Given the description of an element on the screen output the (x, y) to click on. 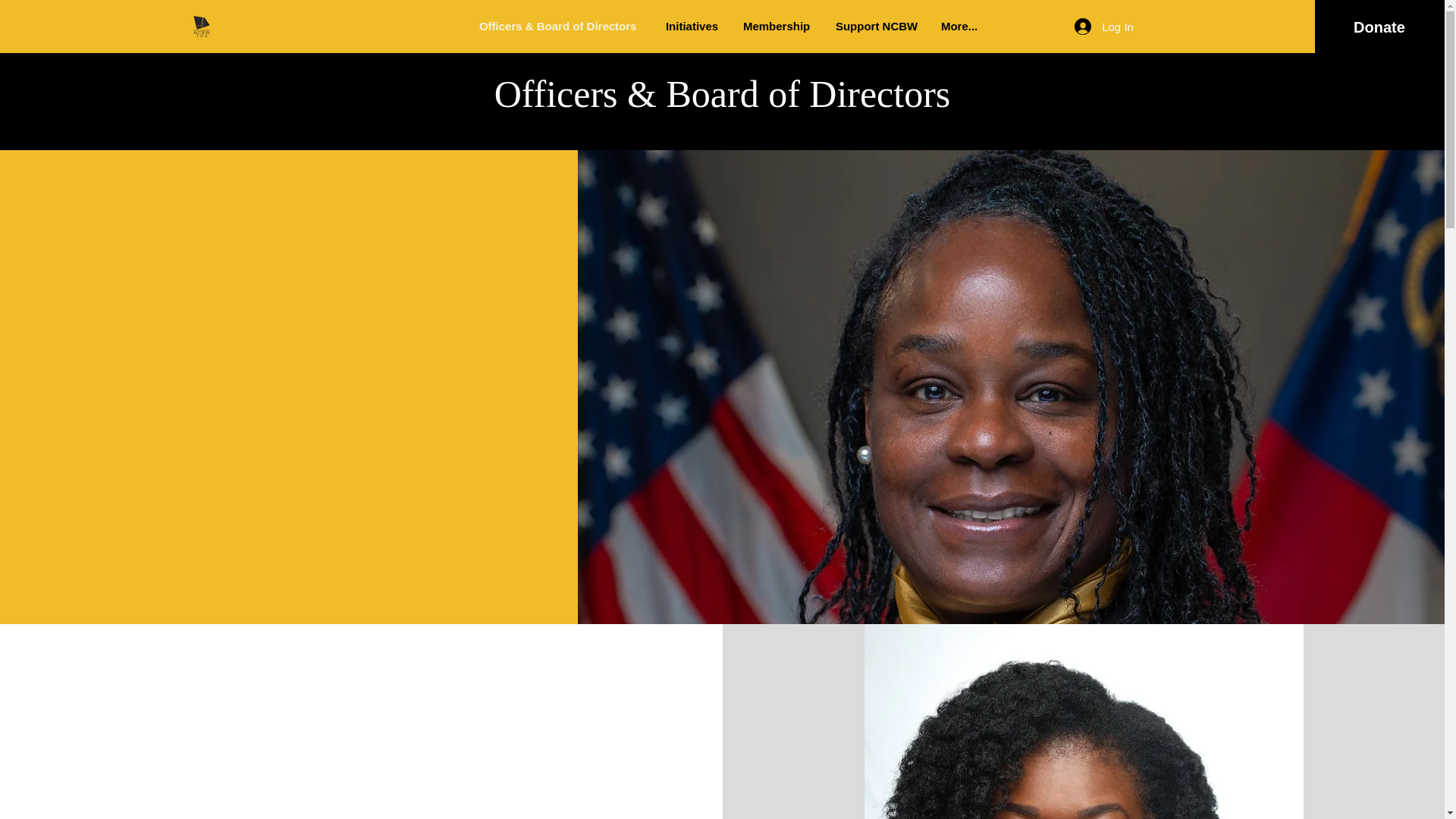
Initiatives (692, 26)
Membership (778, 26)
Donate (1378, 27)
Support NCBW (877, 26)
Log In (1104, 26)
